Given the description of an element on the screen output the (x, y) to click on. 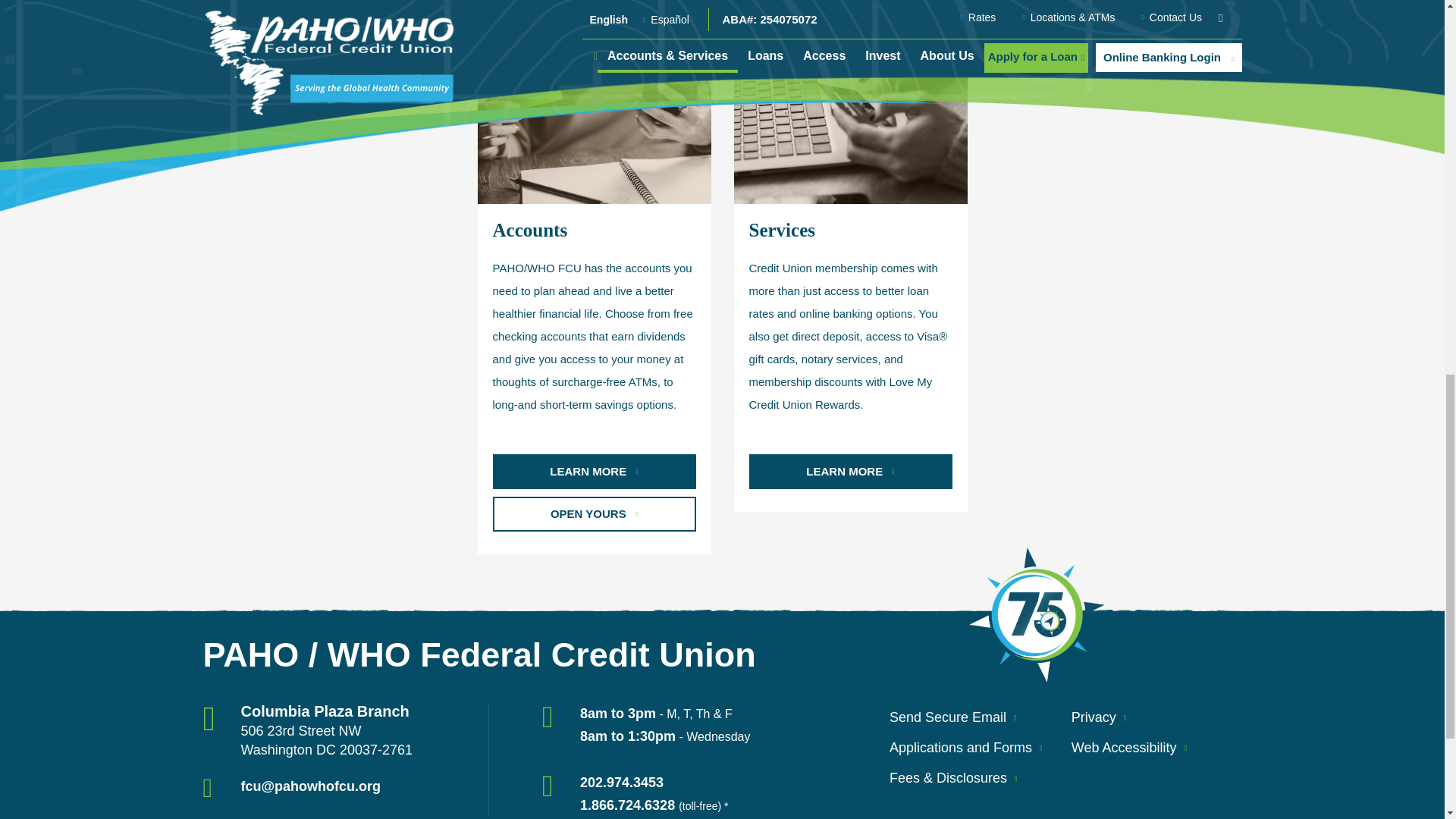
Open Yours for Accounts (594, 513)
Accounts (594, 84)
More info on Services (850, 470)
More info on Accounts (594, 470)
Services (850, 84)
